Given the description of an element on the screen output the (x, y) to click on. 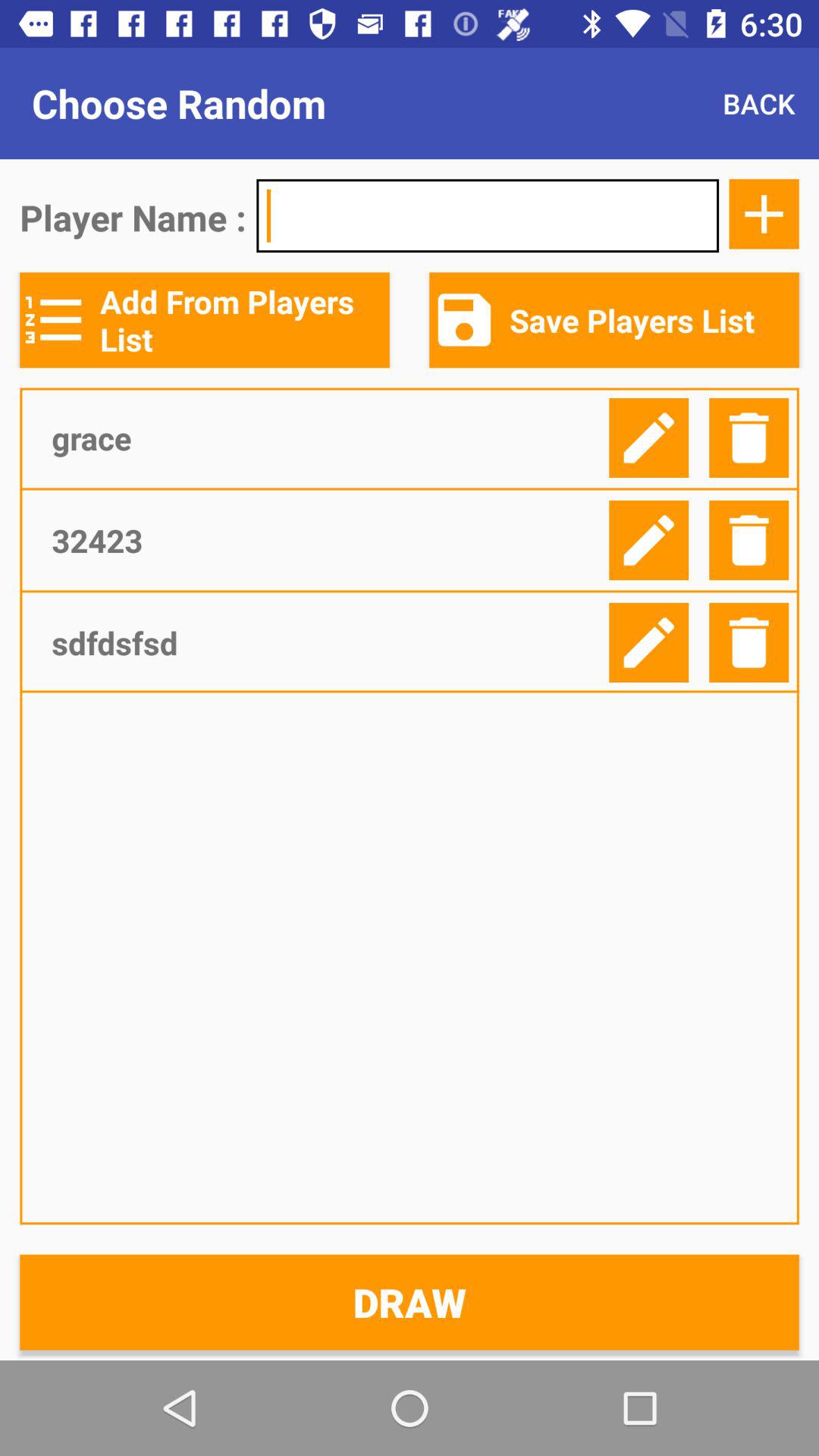
input player name (487, 215)
